Given the description of an element on the screen output the (x, y) to click on. 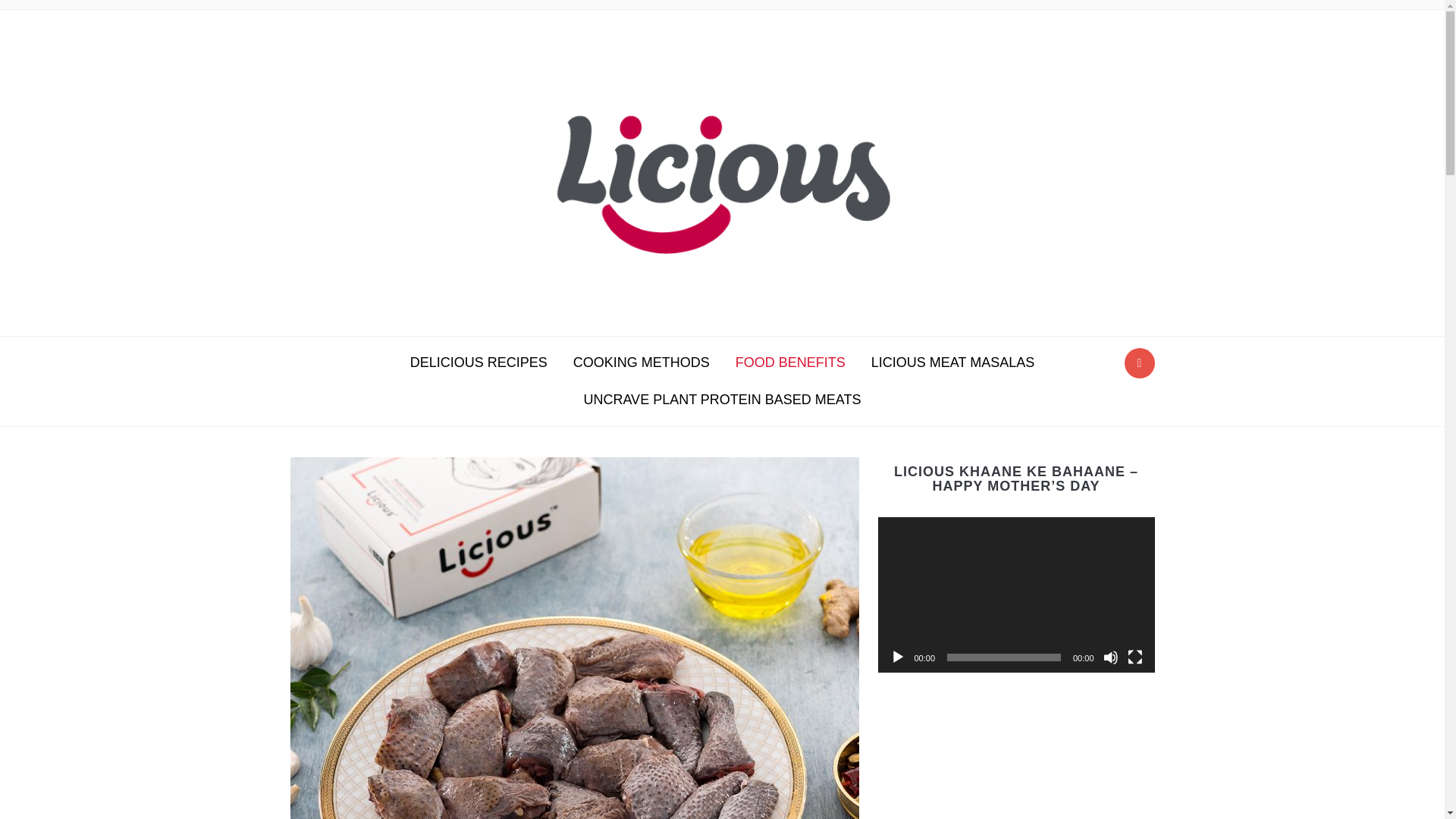
LICIOUS MEAT MASALAS (952, 362)
DELICIOUS RECIPES (478, 362)
FOOD BENEFITS (790, 362)
UNCRAVE PLANT PROTEIN BASED MEATS (722, 399)
Search (1139, 363)
COOKING METHODS (641, 362)
Play (897, 657)
